Given the description of an element on the screen output the (x, y) to click on. 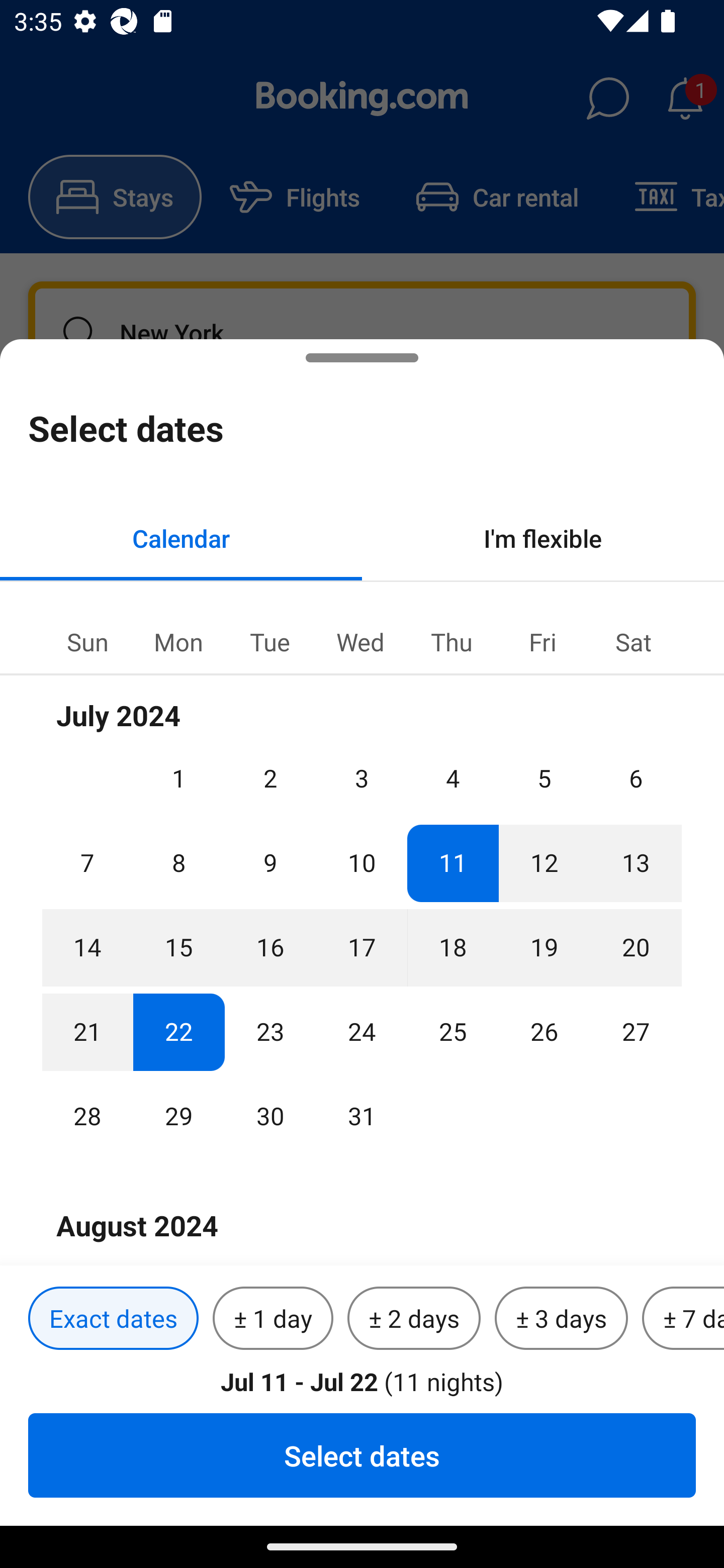
I'm flexible (543, 537)
Exact dates (113, 1318)
± 1 day (272, 1318)
± 2 days (413, 1318)
± 3 days (560, 1318)
± 7 days (683, 1318)
Select dates (361, 1454)
